Given the description of an element on the screen output the (x, y) to click on. 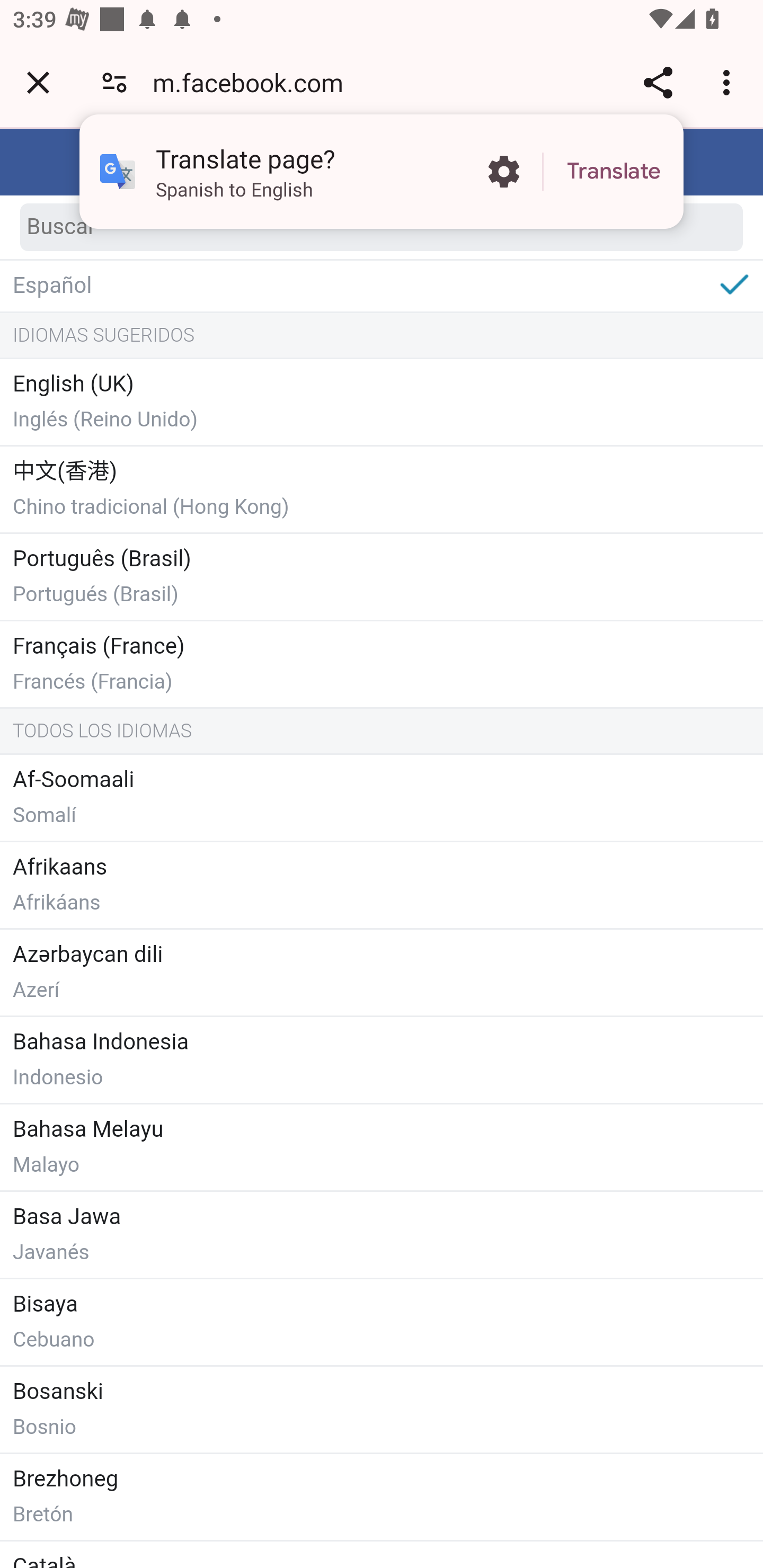
Close tab (38, 82)
Share (657, 82)
Customize and control Google Chrome (729, 82)
Connection is secure (114, 81)
m.facebook.com (254, 81)
Translate (613, 171)
More options in the Translate page? (503, 171)
